Given the description of an element on the screen output the (x, y) to click on. 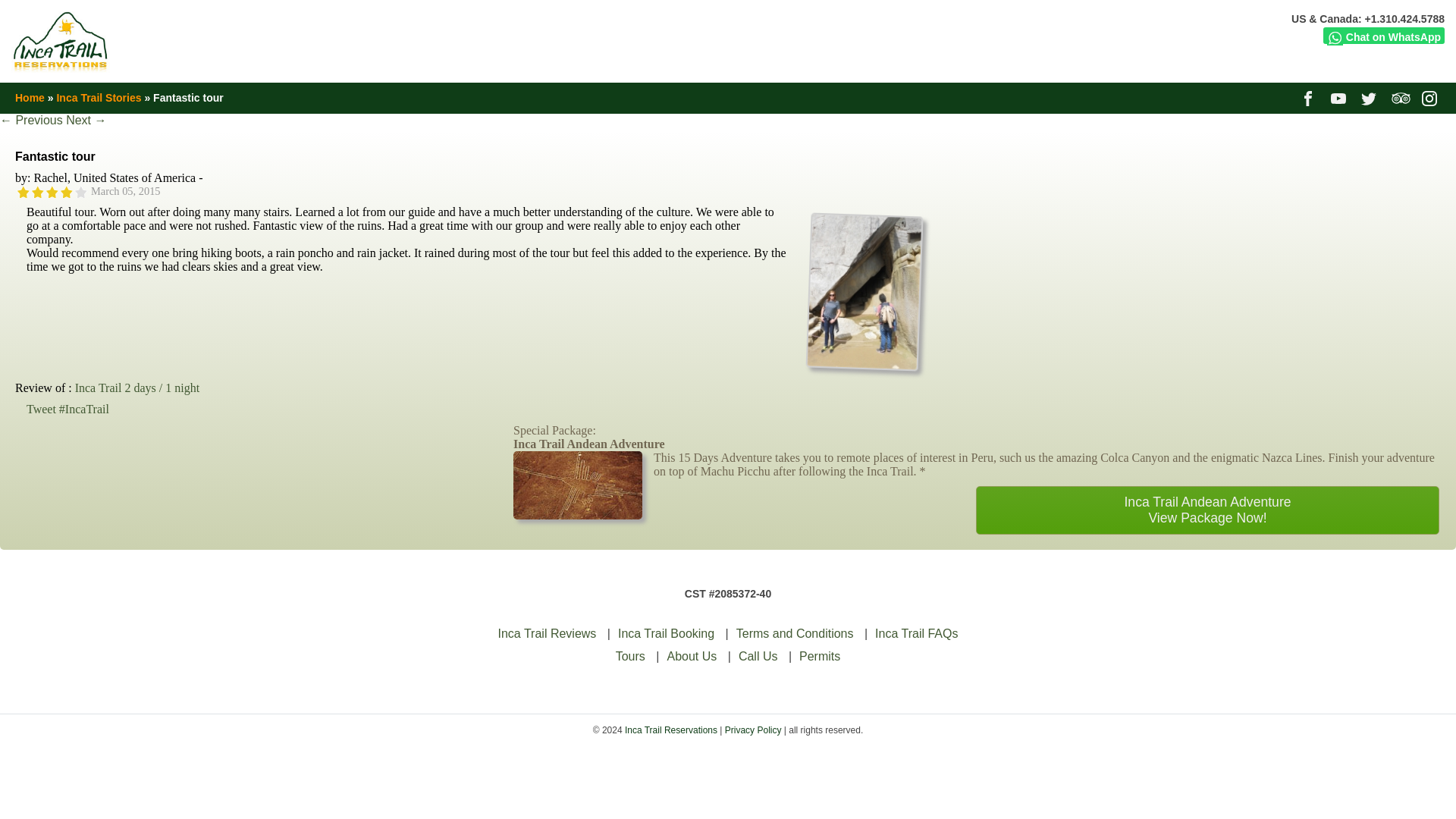
Inca Trail Reviews (546, 633)
Call Us (1207, 510)
About Us (757, 656)
Inca Trail FAQs (691, 656)
tripadvisor (916, 633)
instagram (1400, 97)
Permits (1431, 97)
Inca Trail Booking (819, 656)
Home (665, 633)
facebook (29, 97)
Tours (1309, 97)
twitter (630, 656)
Rachel Inca Trail March 05 2015 (1370, 97)
youtube (861, 362)
